Given the description of an element on the screen output the (x, y) to click on. 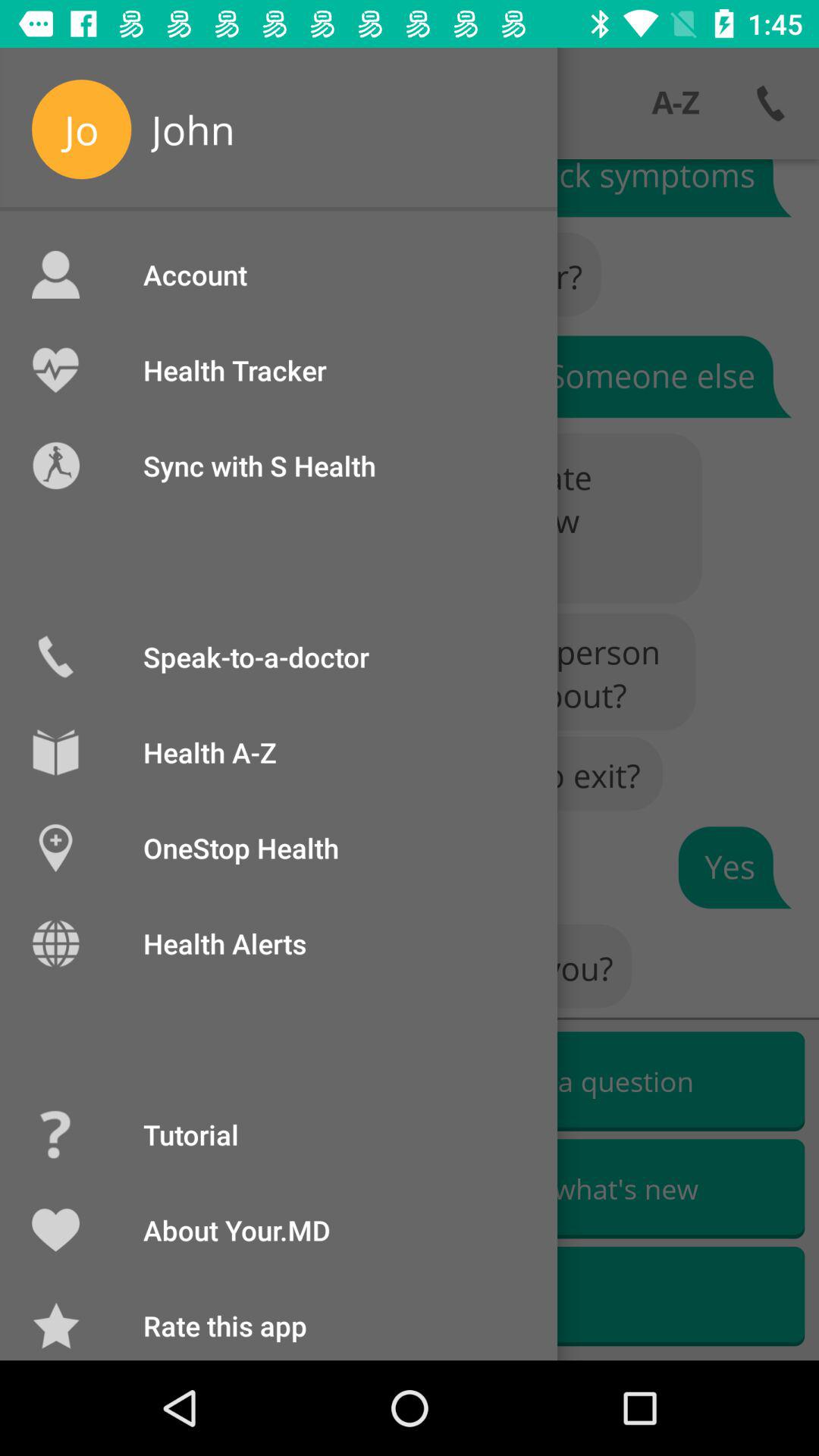
select az which is left side to the calling icon (675, 103)
